Given the description of an element on the screen output the (x, y) to click on. 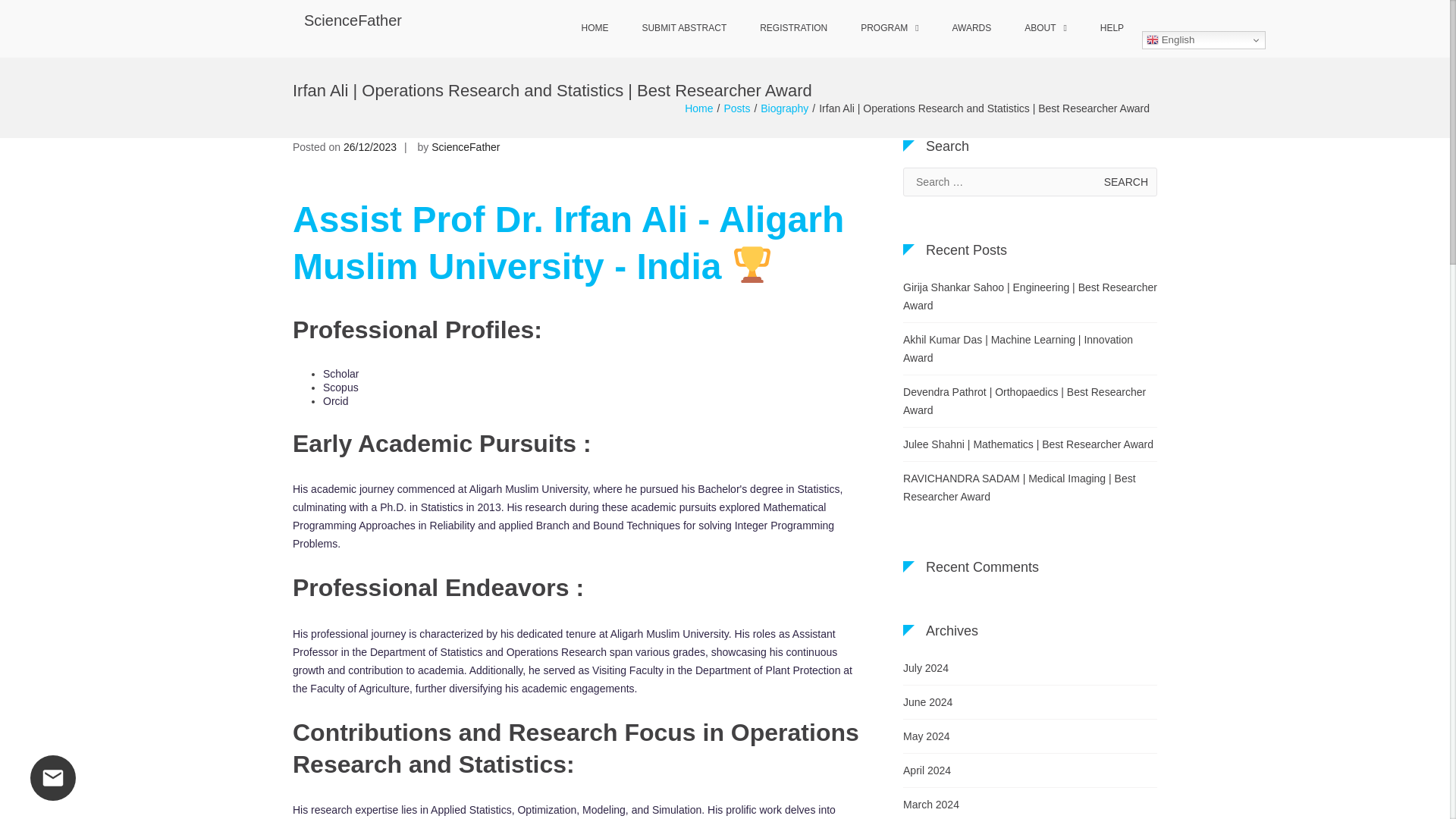
HOME (595, 28)
Home (698, 108)
SUBMIT ABSTRACT (683, 28)
English (1203, 40)
Orcid (335, 400)
Leave a message (52, 777)
Search (1125, 181)
AWARDS (971, 28)
Search (1125, 181)
Posts (736, 108)
ScienceFather (464, 146)
PROGRAM (889, 28)
Scholar (340, 373)
Biography (784, 108)
REGISTRATION (793, 28)
